Given the description of an element on the screen output the (x, y) to click on. 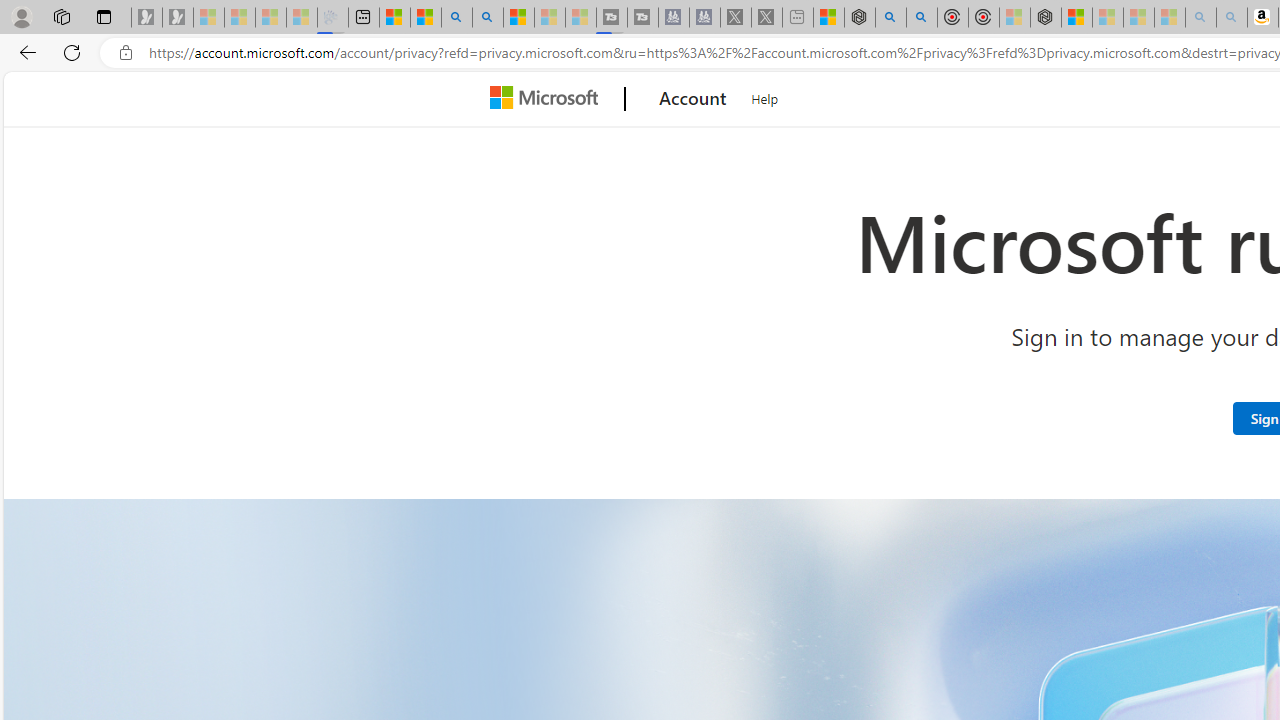
Microsoft Start - Sleeping (549, 17)
Amazon Echo Dot PNG - Search Images - Sleeping (1231, 17)
